Given the description of an element on the screen output the (x, y) to click on. 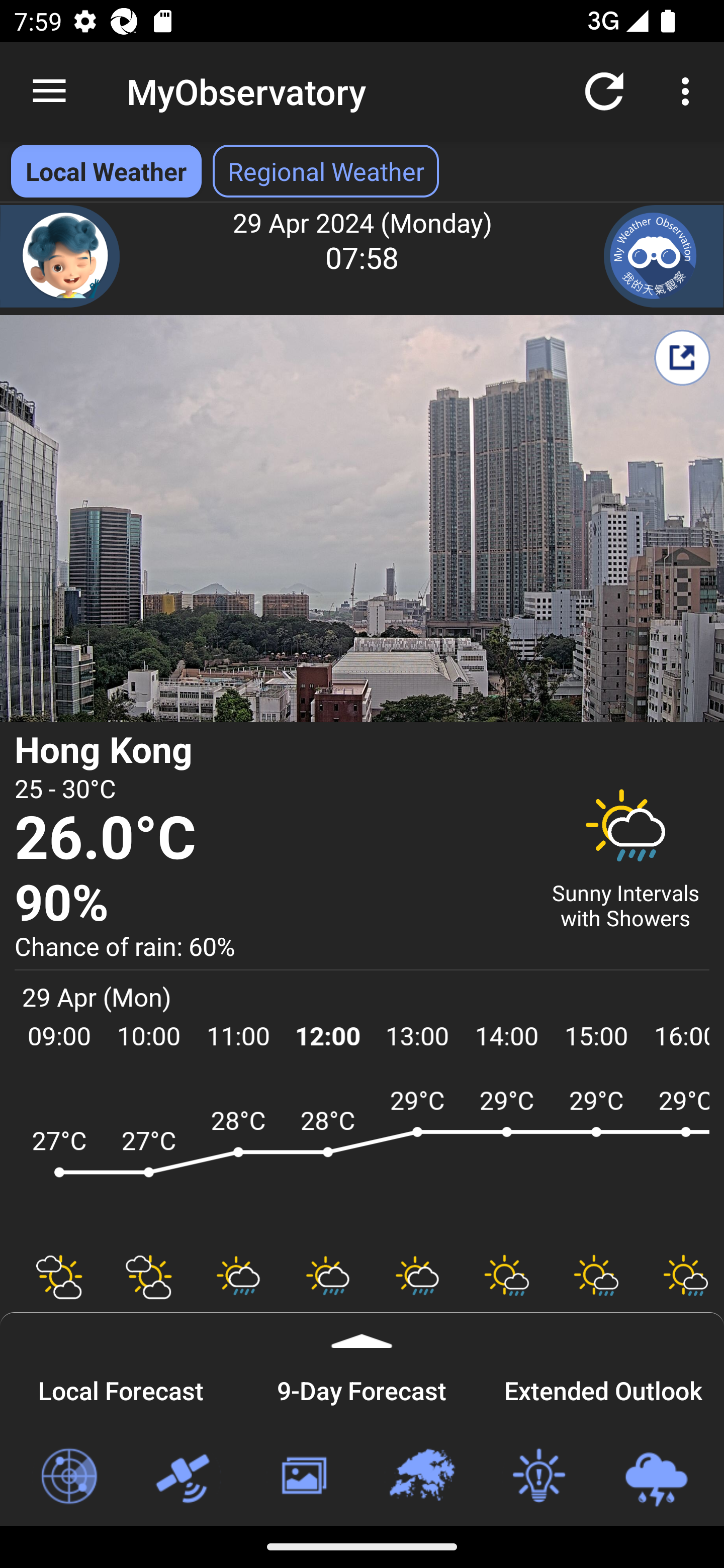
Navigate up (49, 91)
Refresh (604, 90)
More options (688, 90)
Local Weather Local Weather selected (105, 170)
Regional Weather Select Regional Weather (325, 170)
Chatbot (60, 256)
My Weather Observation (663, 256)
Share My Weather Report (681, 357)
26.0°C Temperature
26.0 degree Celsius (270, 839)
90% Relative Humidity
90 percent (270, 903)
ARWF (361, 1160)
Expand (362, 1330)
Local Forecast (120, 1387)
Extended Outlook (603, 1387)
Radar Images (68, 1476)
Satellite Images (185, 1476)
Weather Photos (302, 1476)
Regional Weather (420, 1476)
Weather Tips (537, 1476)
Loc-based Rain & Lightning Forecast (655, 1476)
